Given the description of an element on the screen output the (x, y) to click on. 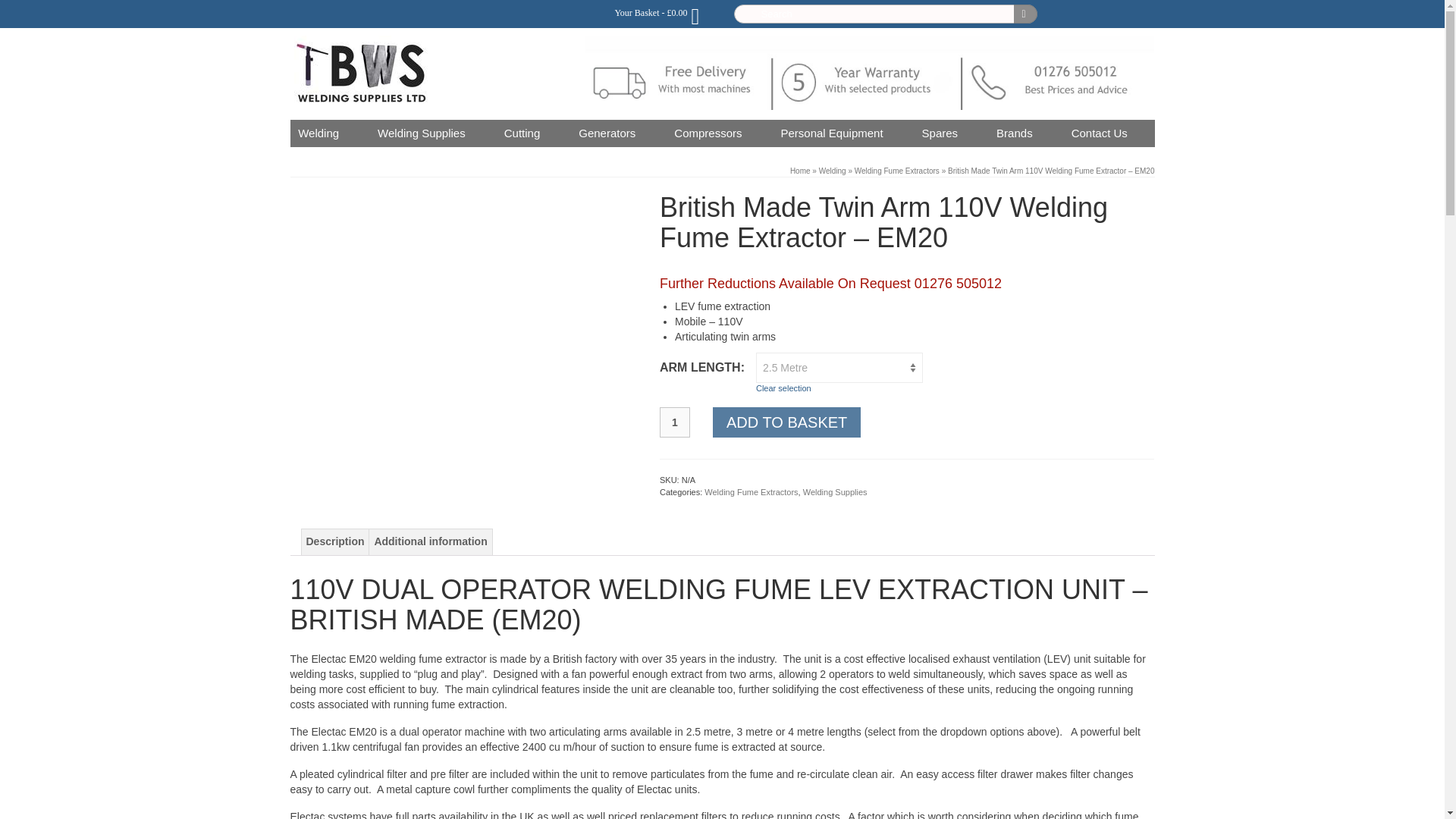
Welding (319, 133)
1 (674, 422)
TBWS Welding Supplies Ltd (428, 73)
View your shopping basket (658, 12)
